Given the description of an element on the screen output the (x, y) to click on. 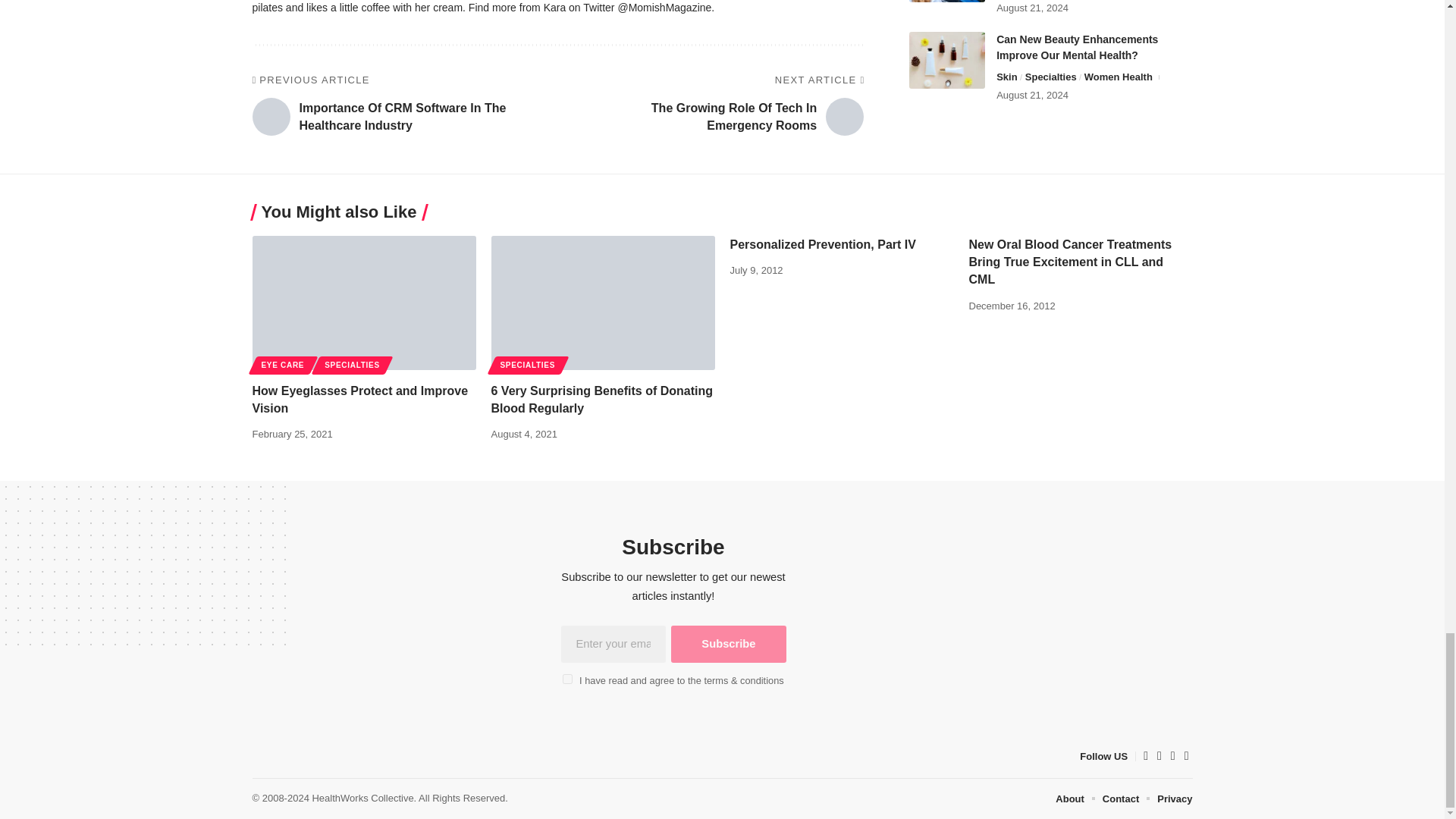
1 (567, 678)
6 Very Surprising Benefits of Donating Blood Regularly (603, 302)
Subscribe (728, 642)
How Eyeglasses Protect and Improve Vision (363, 302)
